Given the description of an element on the screen output the (x, y) to click on. 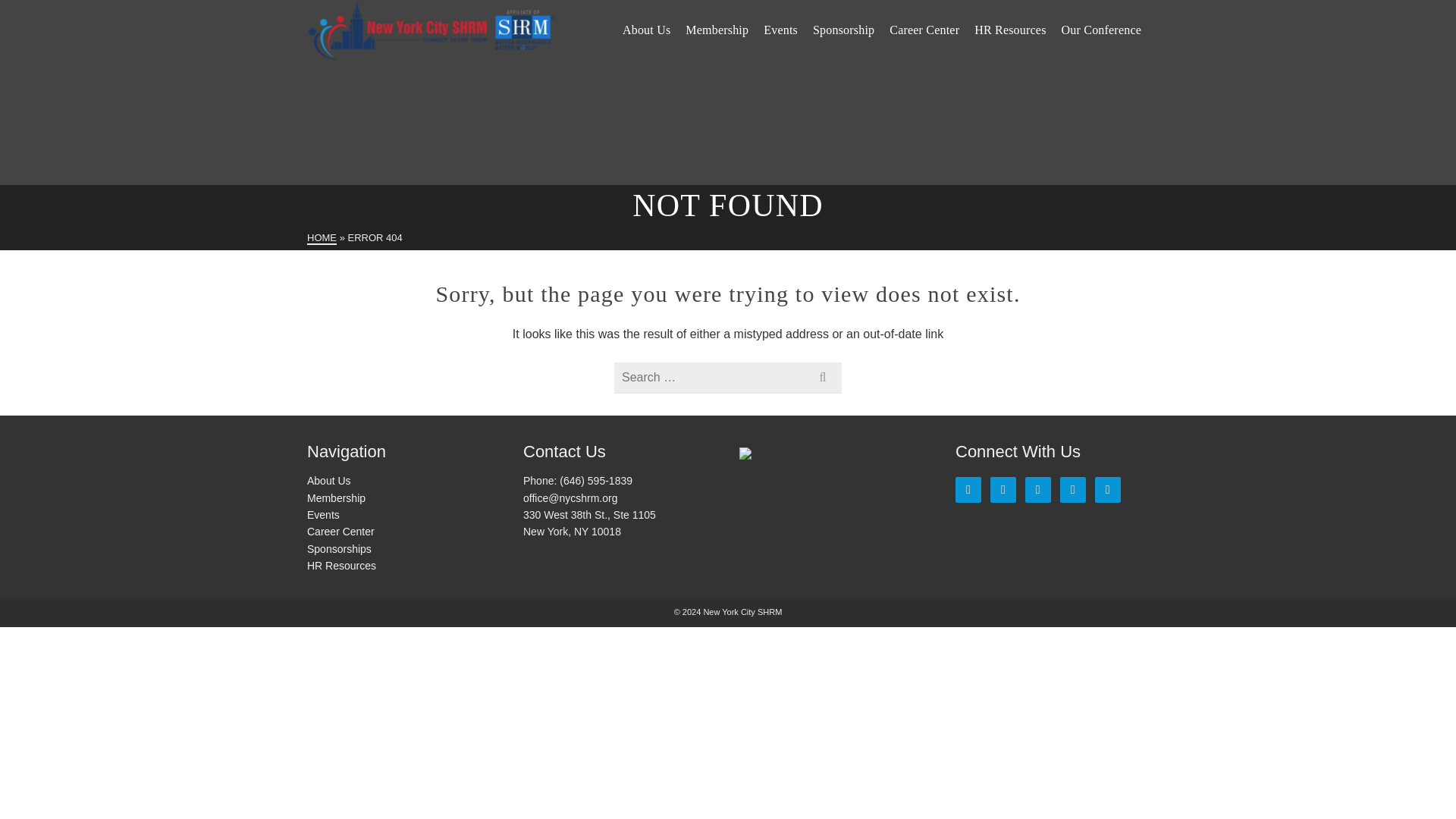
Membership (716, 29)
Sponsorship (843, 29)
HR Resources (1009, 29)
Career Center (924, 29)
Events (780, 29)
About Us (646, 29)
Our Conference (1101, 29)
